Given the description of an element on the screen output the (x, y) to click on. 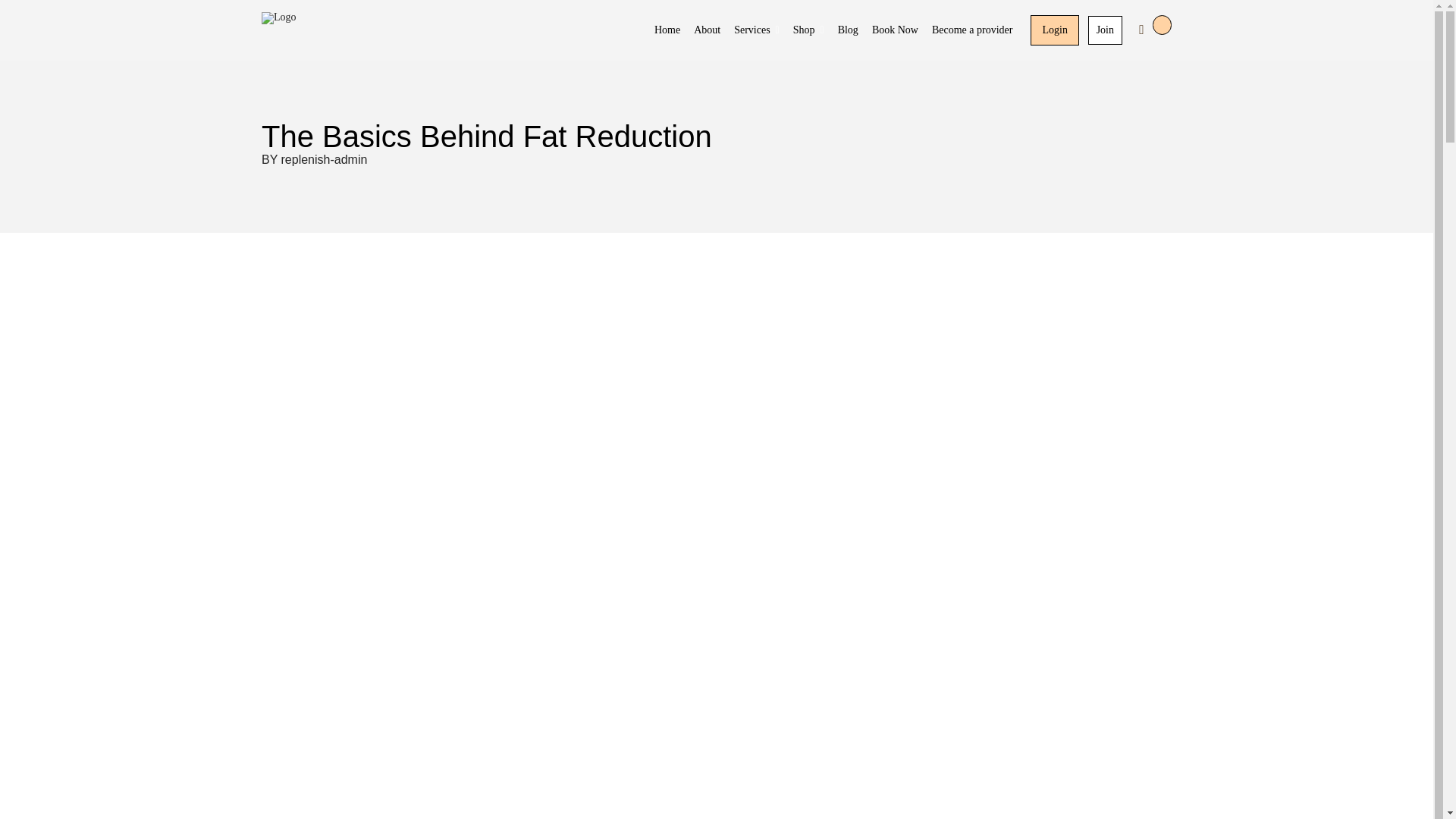
Home (667, 30)
Book Now (894, 30)
Services (756, 30)
Login (1054, 30)
Blog (847, 30)
Become a provider (972, 30)
Shop (808, 30)
About (706, 30)
Join (1104, 30)
